Given the description of an element on the screen output the (x, y) to click on. 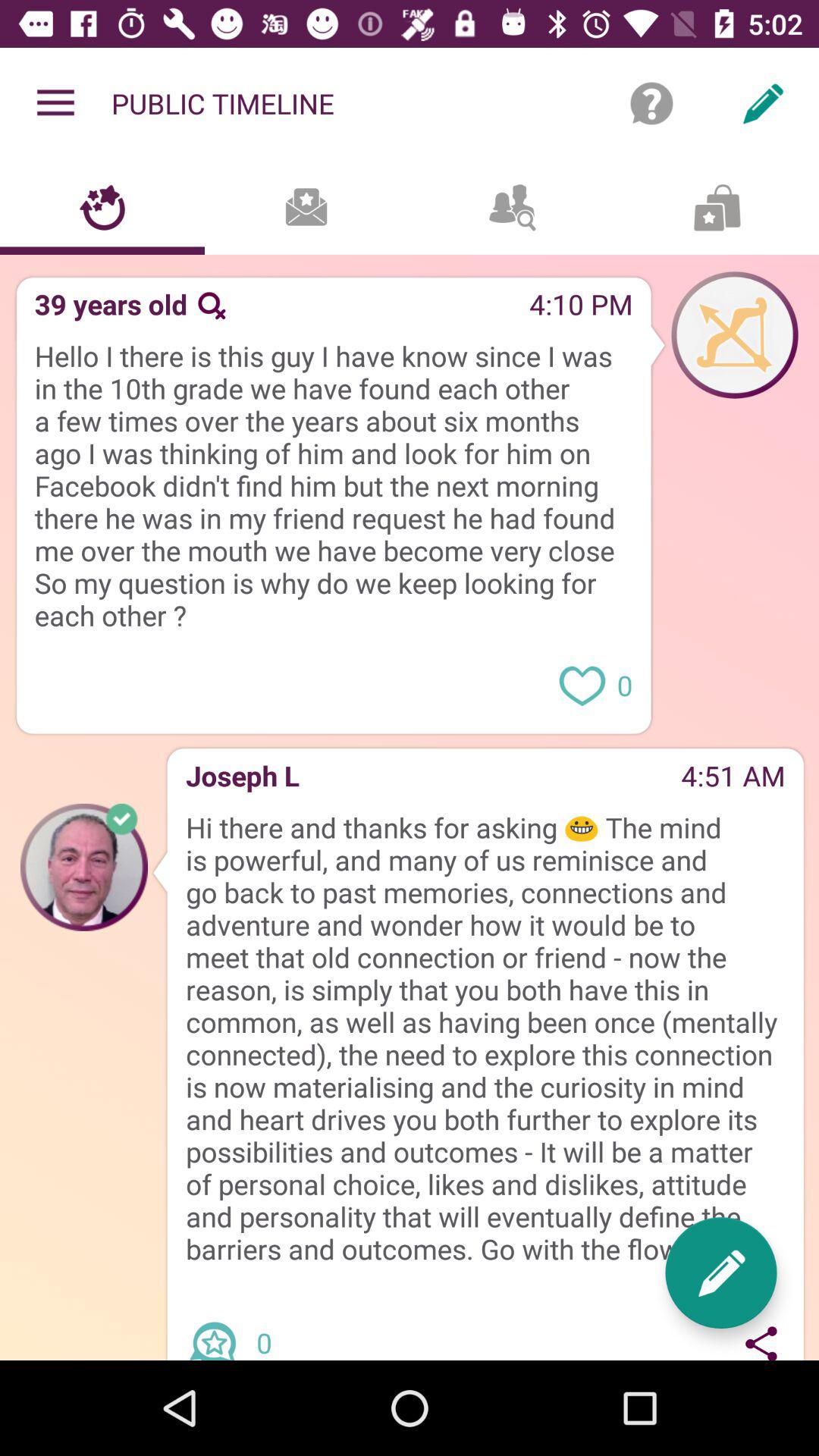
swipe until the 39 years old item (105, 309)
